Given the description of an element on the screen output the (x, y) to click on. 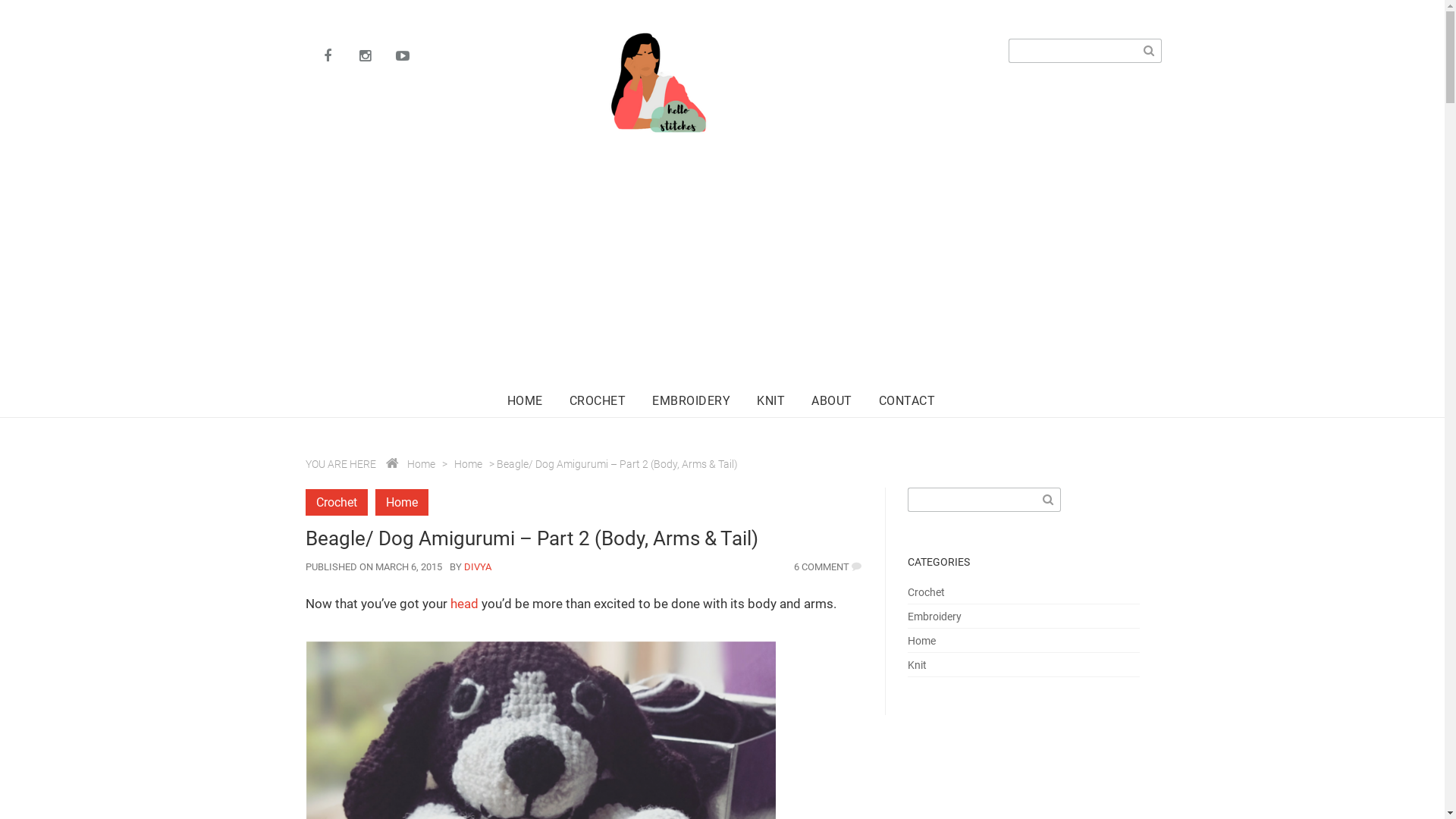
Home Element type: text (400, 502)
Search for: Element type: hover (971, 499)
DIVYA Element type: text (477, 566)
head Element type: text (464, 603)
Knit Element type: text (916, 664)
Embroidery Element type: text (934, 616)
Home Element type: text (921, 640)
Search for: Element type: hover (1071, 50)
Advertisement Element type: hover (725, 281)
ABOUT Element type: text (831, 404)
KNIT Element type: text (770, 404)
Crochet Element type: text (925, 592)
CROCHET Element type: text (597, 404)
6 COMMENT Element type: text (821, 566)
EMBROIDERY Element type: text (690, 404)
Crochet Element type: text (335, 502)
CONTACT Element type: text (907, 404)
HOME Element type: text (524, 404)
Home Element type: text (467, 464)
Home Element type: text (420, 464)
